Given the description of an element on the screen output the (x, y) to click on. 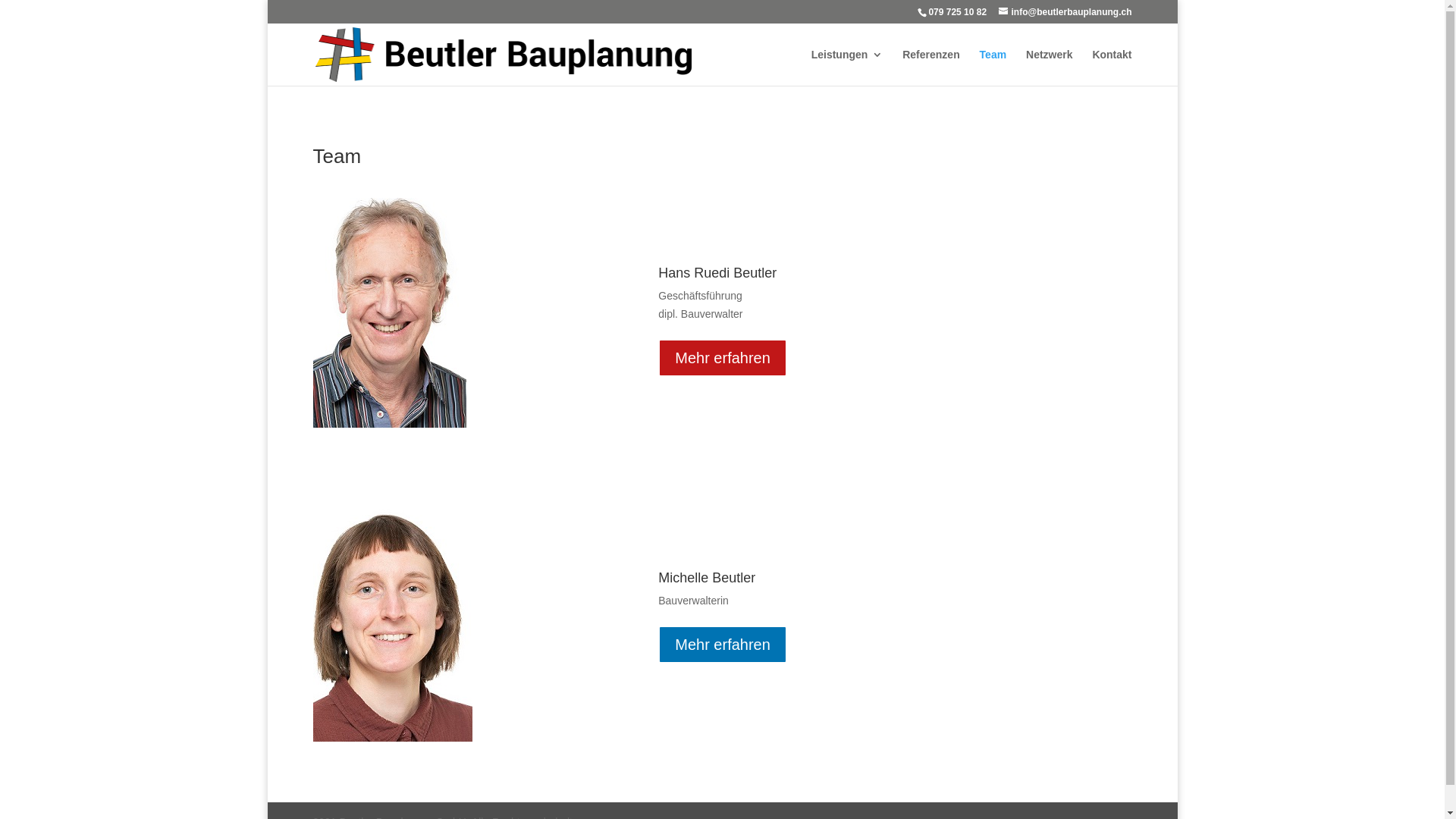
Netzwerk Element type: text (1049, 67)
info@beutlerbauplanung.ch Element type: text (1064, 11)
Leistungen Element type: text (847, 67)
Team Element type: text (993, 67)
Beutler_Michelle Element type: hover (391, 621)
Referenzen Element type: text (930, 67)
Mehr erfahren Element type: text (722, 357)
Beutler_Hans Ruedi_1 Element type: hover (388, 312)
Mehr erfahren Element type: text (722, 644)
Kontakt Element type: text (1111, 67)
